Given the description of an element on the screen output the (x, y) to click on. 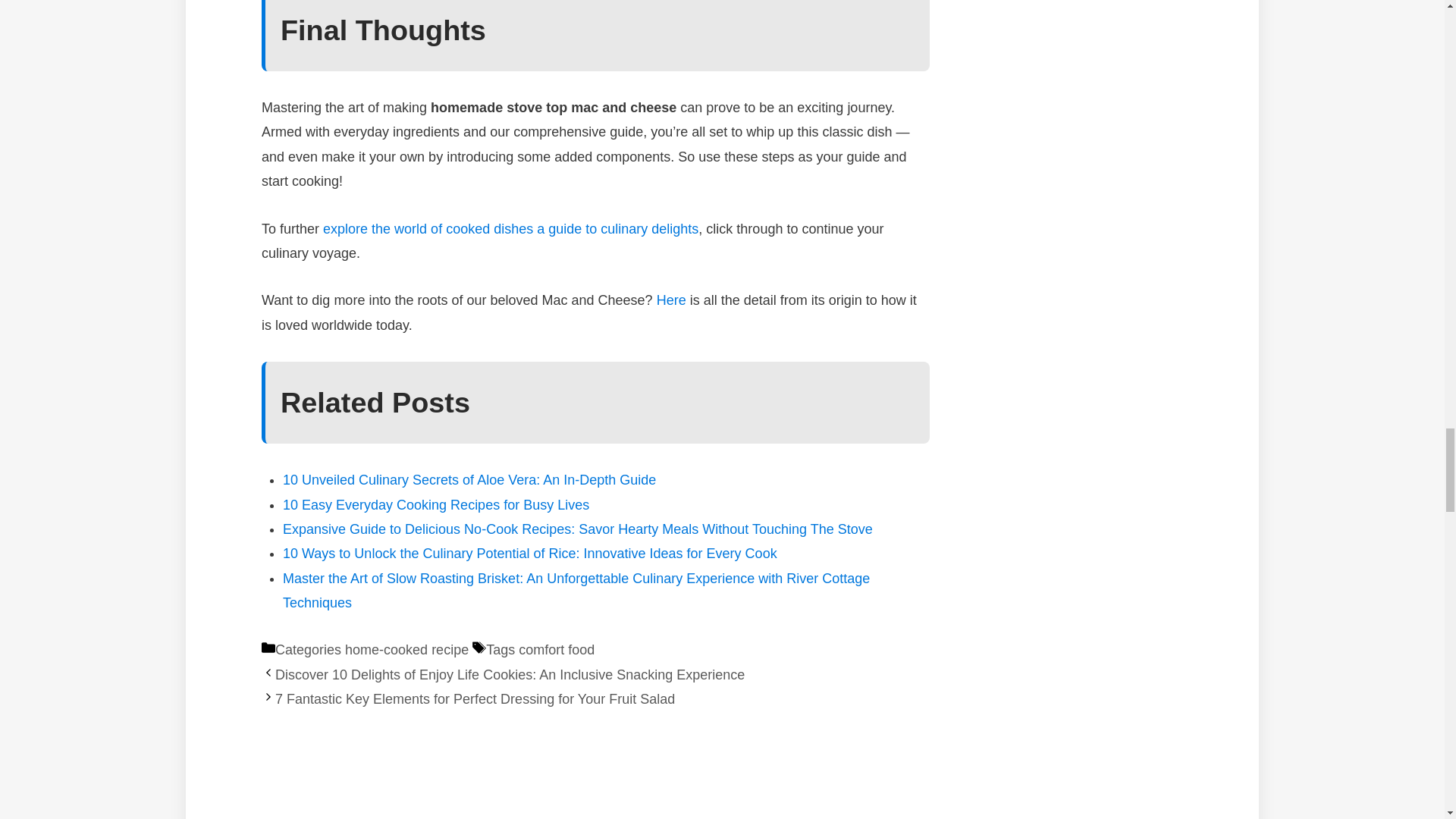
home-cooked recipe (406, 649)
Here (670, 299)
10 Unveiled Culinary Secrets of Aloe Vera: An In-Depth Guide (469, 479)
comfort food (556, 649)
10 Easy Everyday Cooking Recipes for Busy Lives (435, 504)
